Given the description of an element on the screen output the (x, y) to click on. 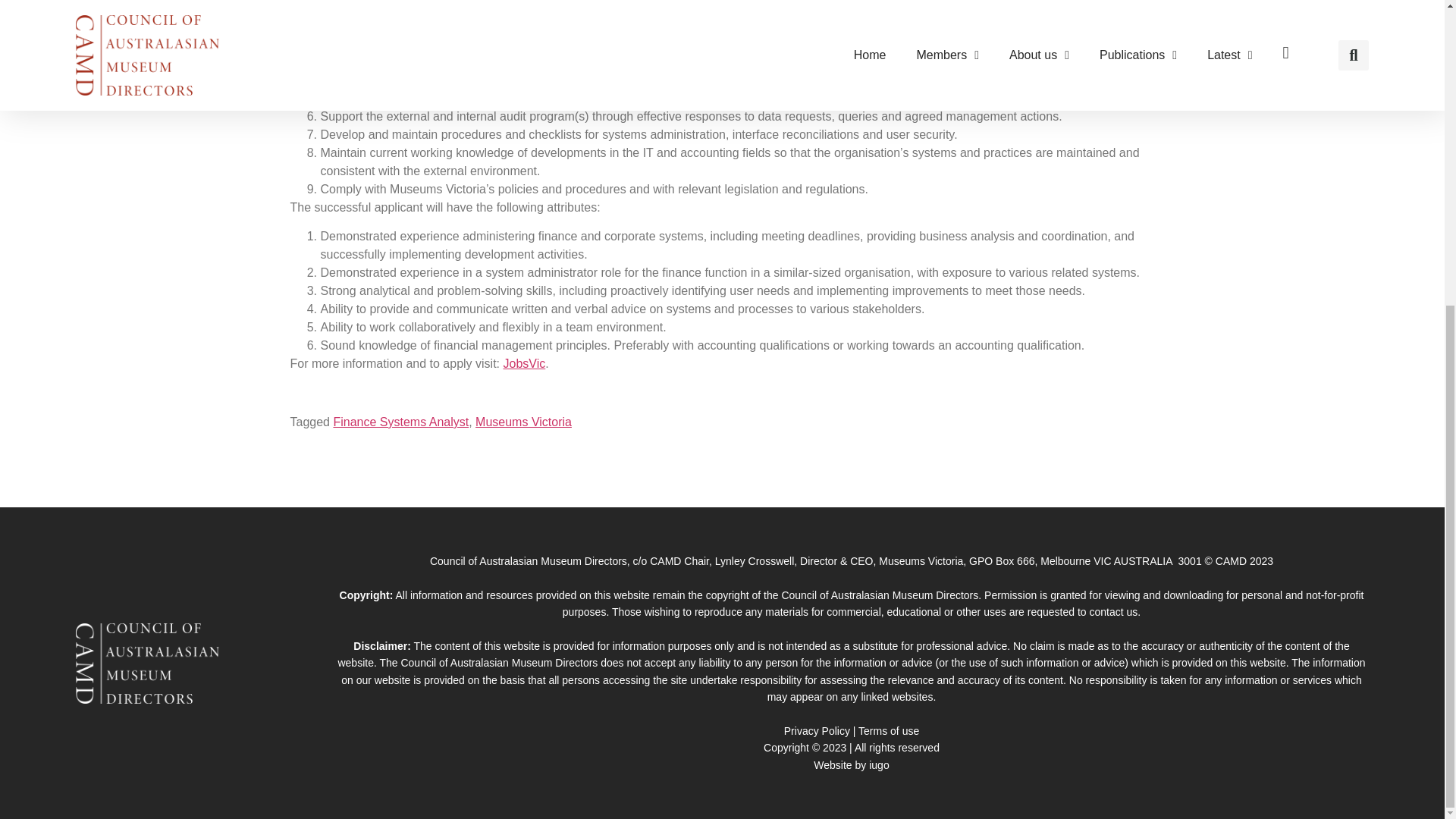
Privacy Policy (817, 730)
JobsVic (524, 363)
Museums Victoria (524, 421)
Finance Systems Analyst (400, 421)
Terms of use (888, 730)
